Given the description of an element on the screen output the (x, y) to click on. 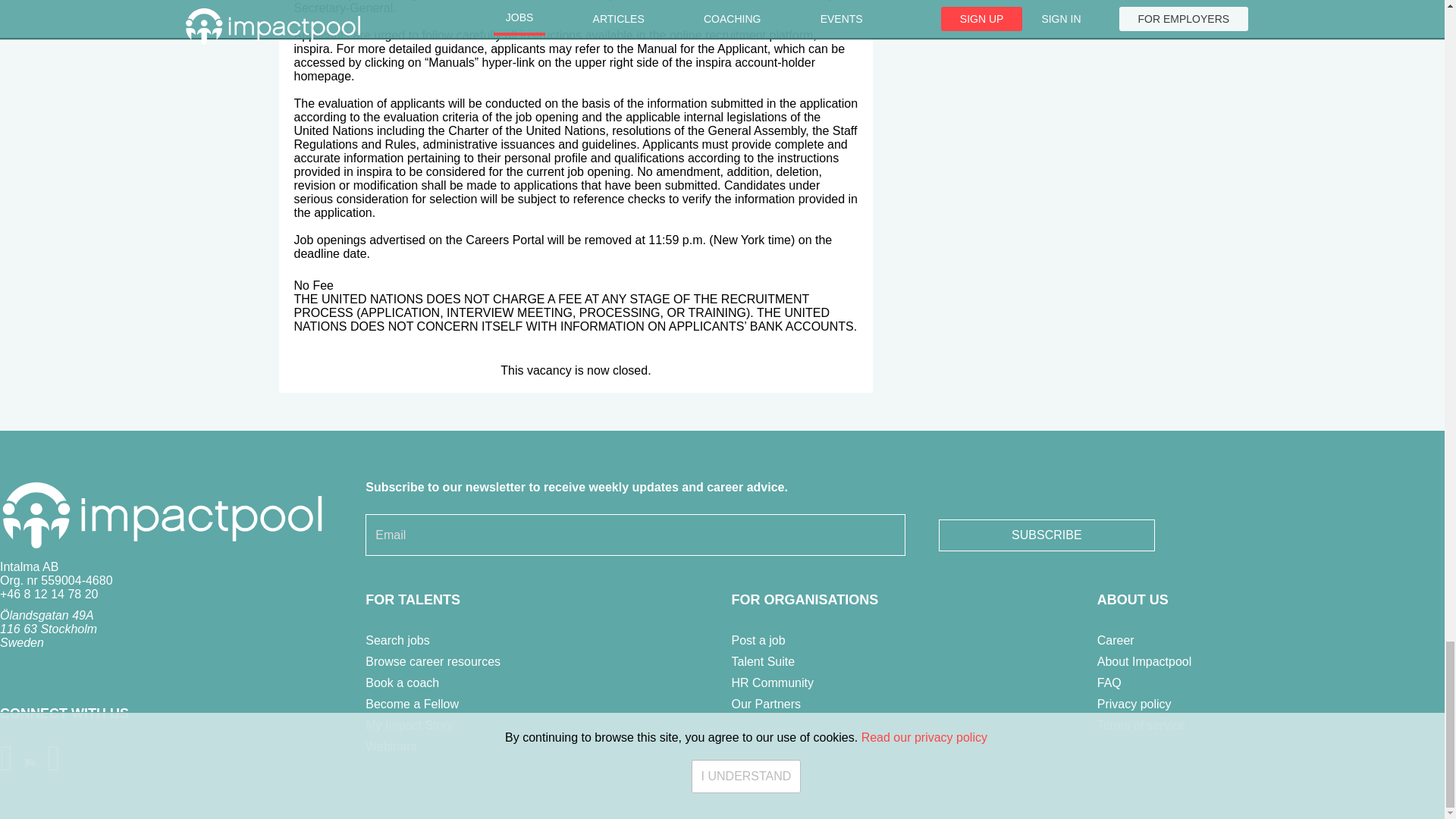
FAQ (1109, 682)
Search jobs (397, 640)
Become a Fellow (411, 703)
Post a job (757, 640)
Privacy policy (1134, 703)
Book a coach (402, 682)
About Impactpool (1144, 661)
Terms of service (1141, 725)
Talent Suite (762, 661)
Webinars (390, 746)
Subscribe (1046, 535)
My Impact Story (408, 725)
Career (1115, 640)
Subscribe (1046, 535)
Browse career resources (432, 661)
